Given the description of an element on the screen output the (x, y) to click on. 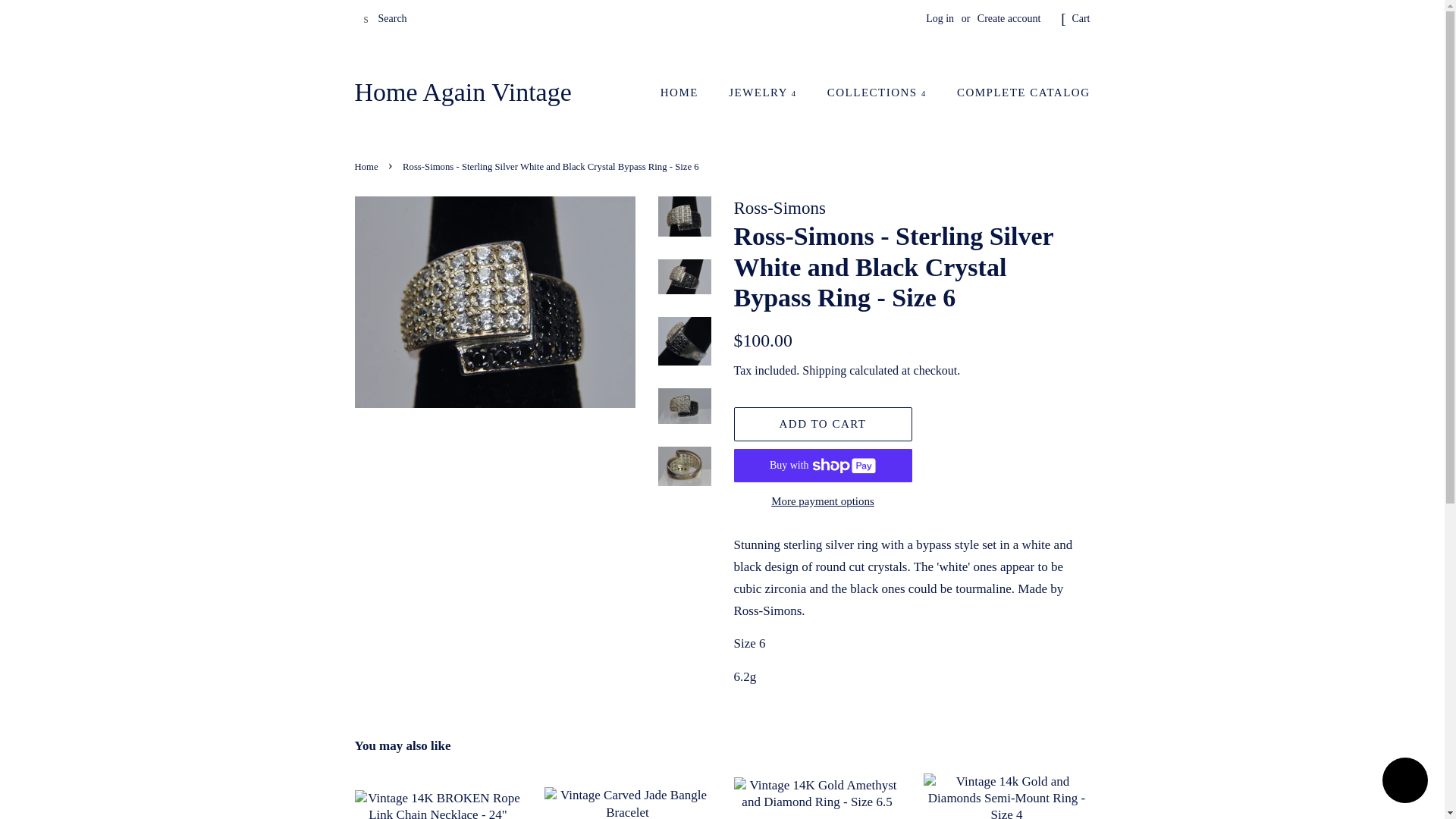
Log in (939, 18)
Create account (1008, 18)
SEARCH (366, 18)
Cart (1080, 18)
Back to the frontpage (368, 166)
Shopify online store chat (1404, 781)
